Given the description of an element on the screen output the (x, y) to click on. 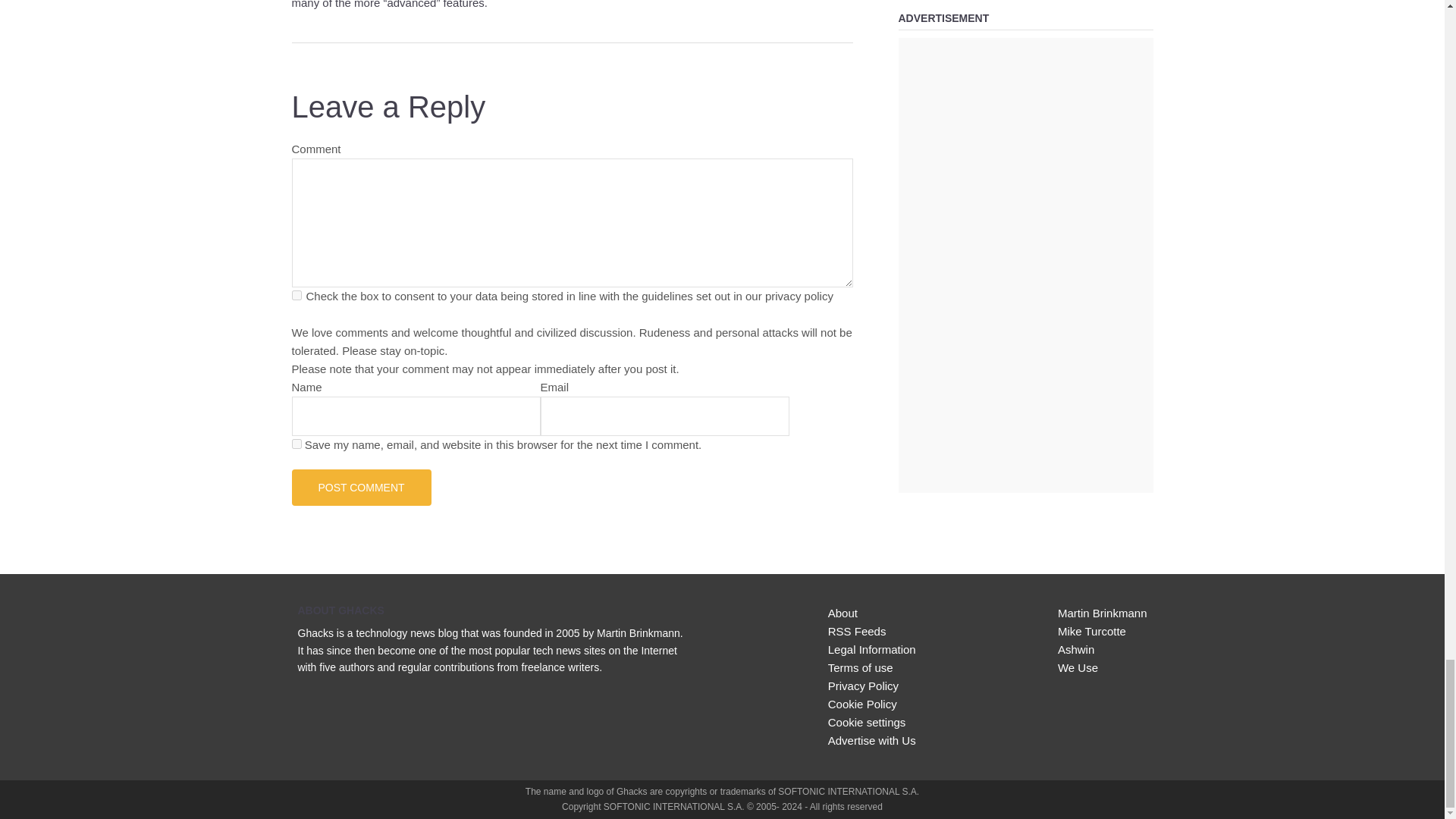
yes (296, 443)
Post Comment (360, 487)
privacy-key (296, 295)
